Given the description of an element on the screen output the (x, y) to click on. 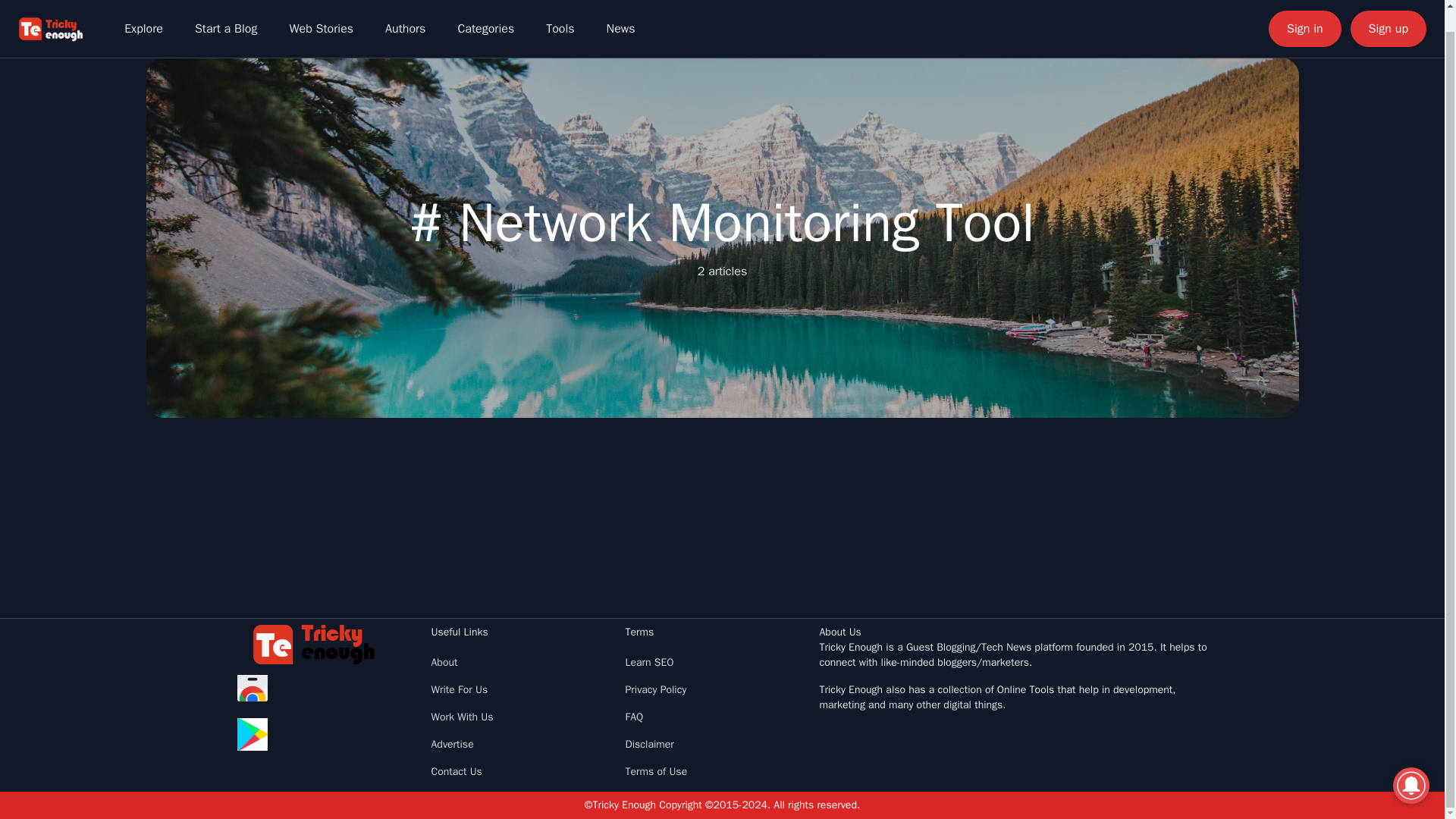
Authors (405, 11)
Terms of Use (655, 771)
Write For Us (458, 689)
Privacy Policy (654, 689)
Sign up (1388, 12)
Contact Us (455, 771)
FAQ (633, 716)
Disclaimer (648, 744)
Work With Us (461, 716)
Tools (560, 11)
